Given the description of an element on the screen output the (x, y) to click on. 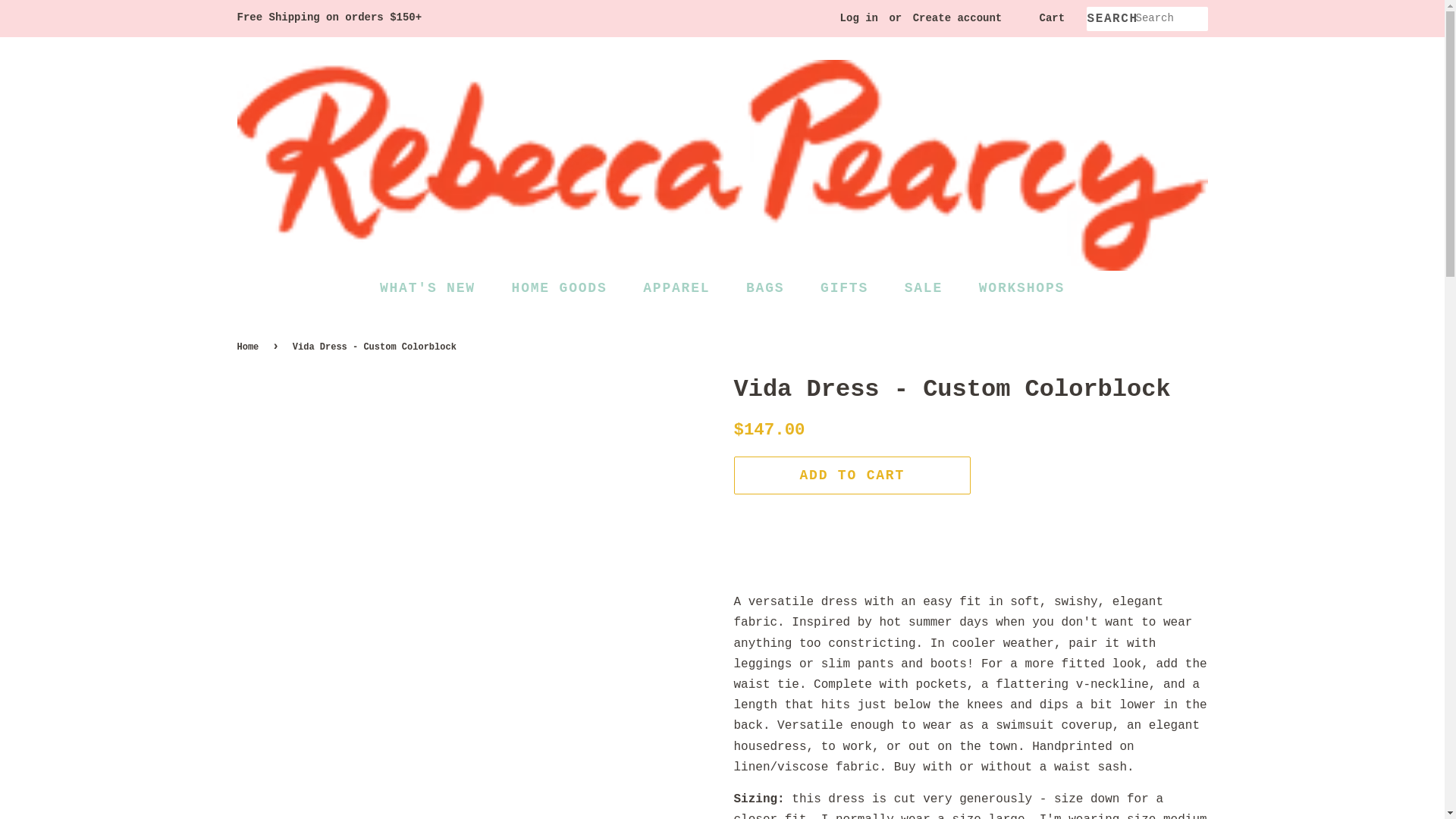
SEARCH (1110, 18)
Log in (858, 18)
WHAT'S NEW (435, 288)
Cart (1051, 18)
Create account (957, 18)
HOME GOODS (561, 288)
Back to the frontpage (248, 347)
